Given the description of an element on the screen output the (x, y) to click on. 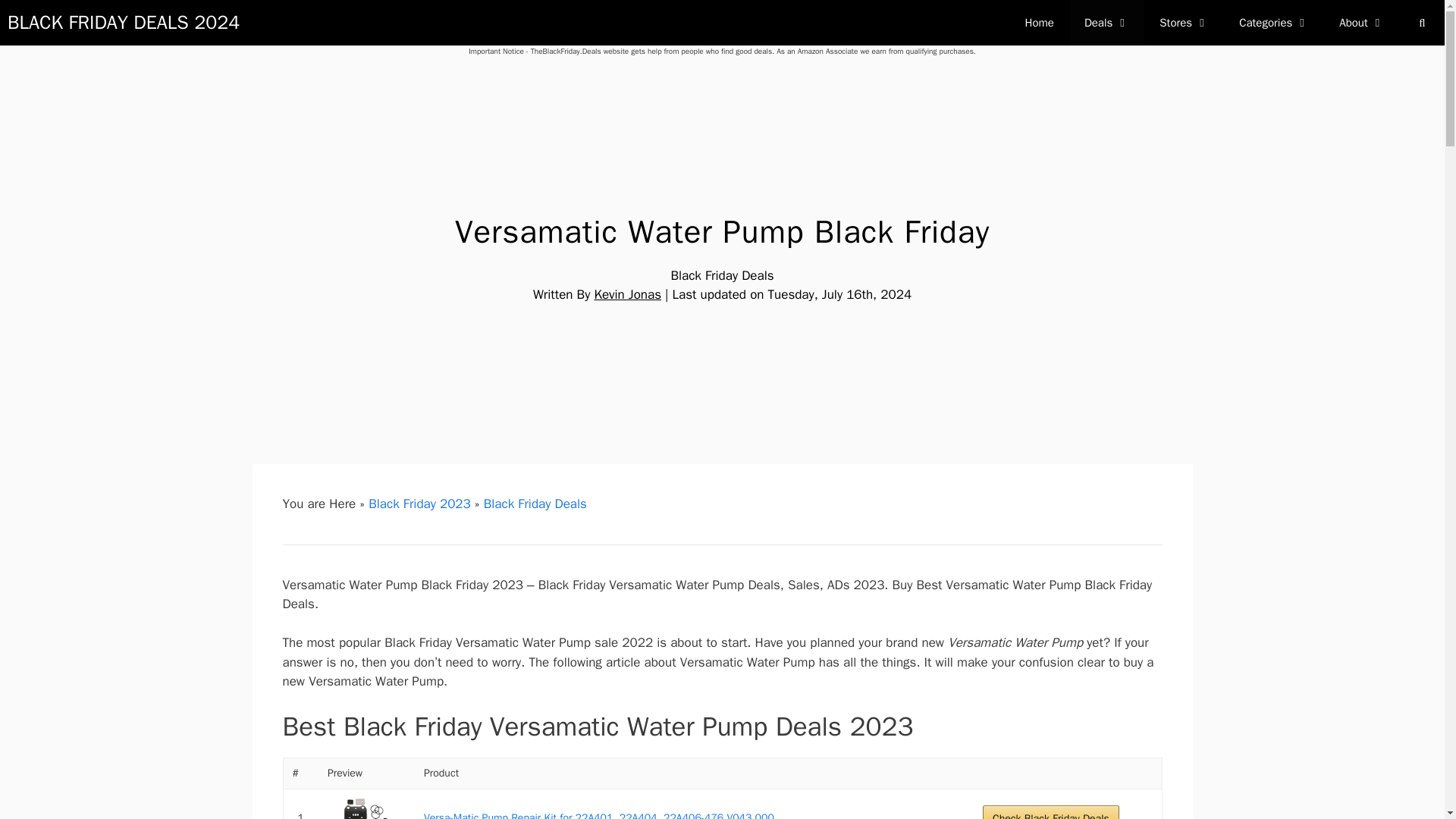
Stores (1184, 22)
Versamatic Water Pump Black Friday 1 (366, 807)
Check Black Friday Deals (1050, 812)
BLACK FRIDAY DEALS 2024 (123, 22)
Deals (1106, 22)
View all posts by Kevin Jonas (627, 294)
About (1361, 22)
Categories (1273, 22)
Home (1039, 22)
